Given the description of an element on the screen output the (x, y) to click on. 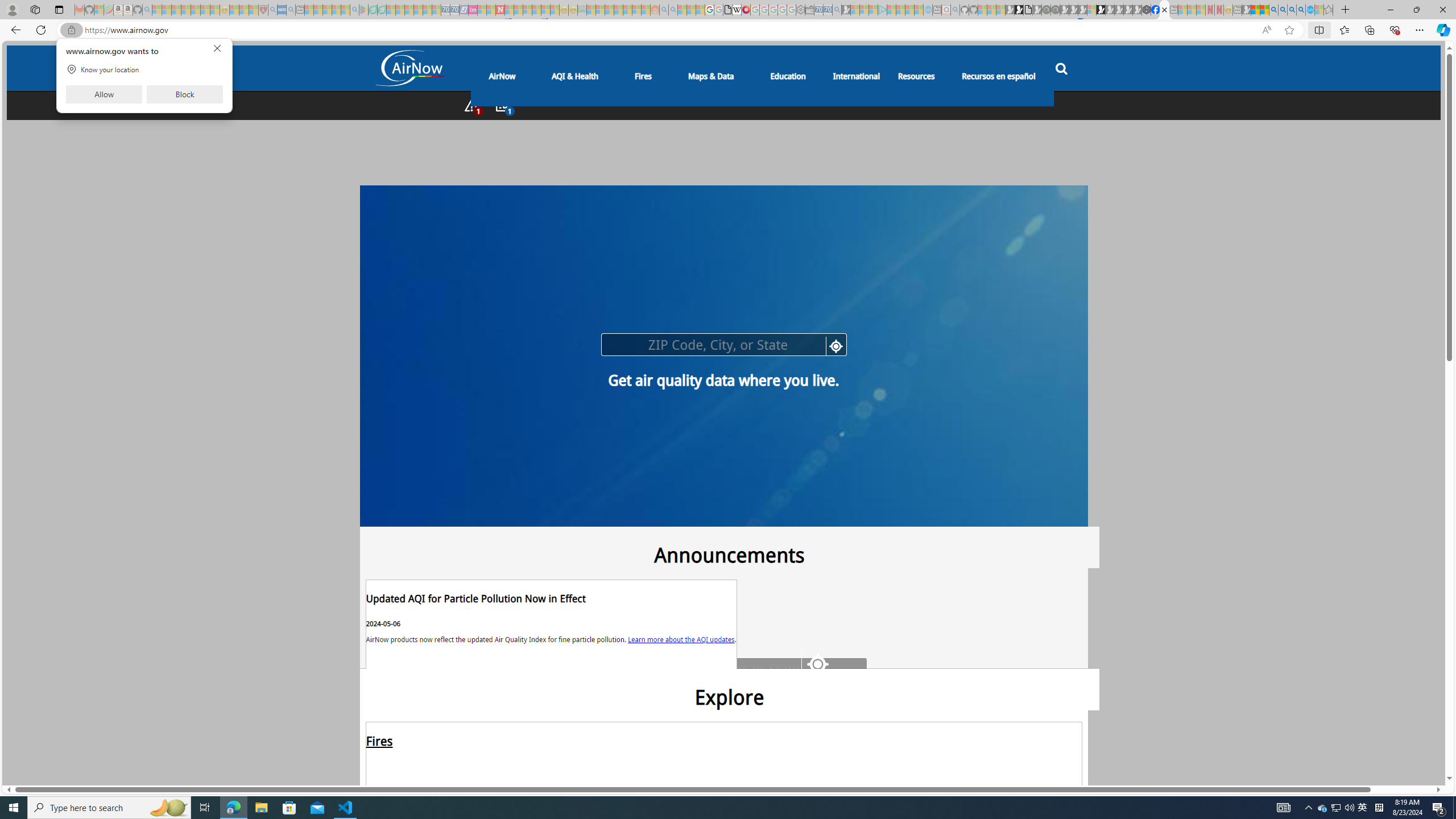
AirNow.gov (1163, 9)
EPA (394, 554)
